Given the description of an element on the screen output the (x, y) to click on. 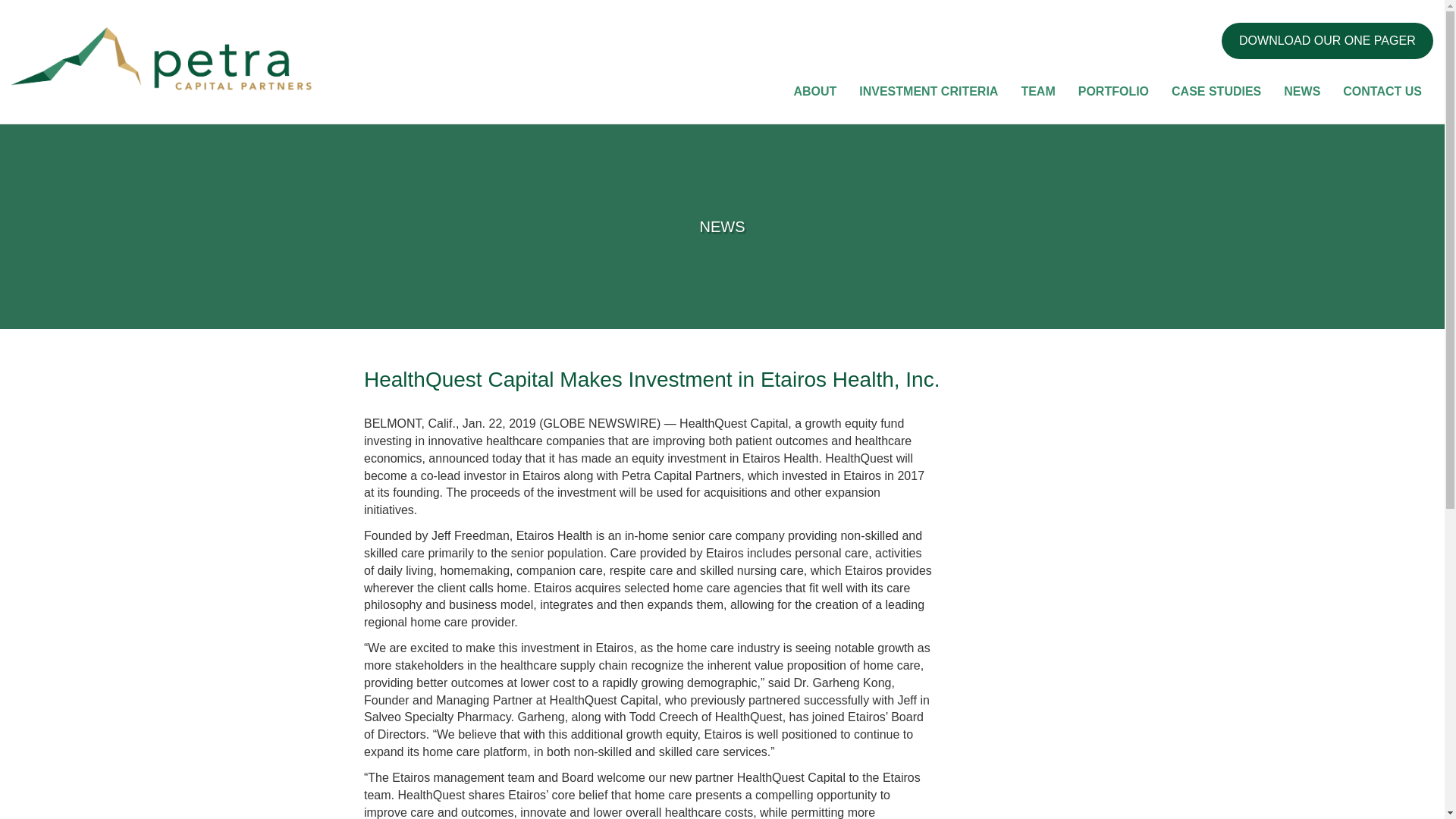
Petra Capital Partners (162, 61)
ABOUT (814, 90)
NEWS (1302, 90)
PORTFOLIO (1113, 90)
Case Studies (1216, 90)
Portfolio (1113, 90)
Contact Us (1382, 90)
About (814, 90)
CONTACT US (1382, 90)
News (1302, 90)
